Given the description of an element on the screen output the (x, y) to click on. 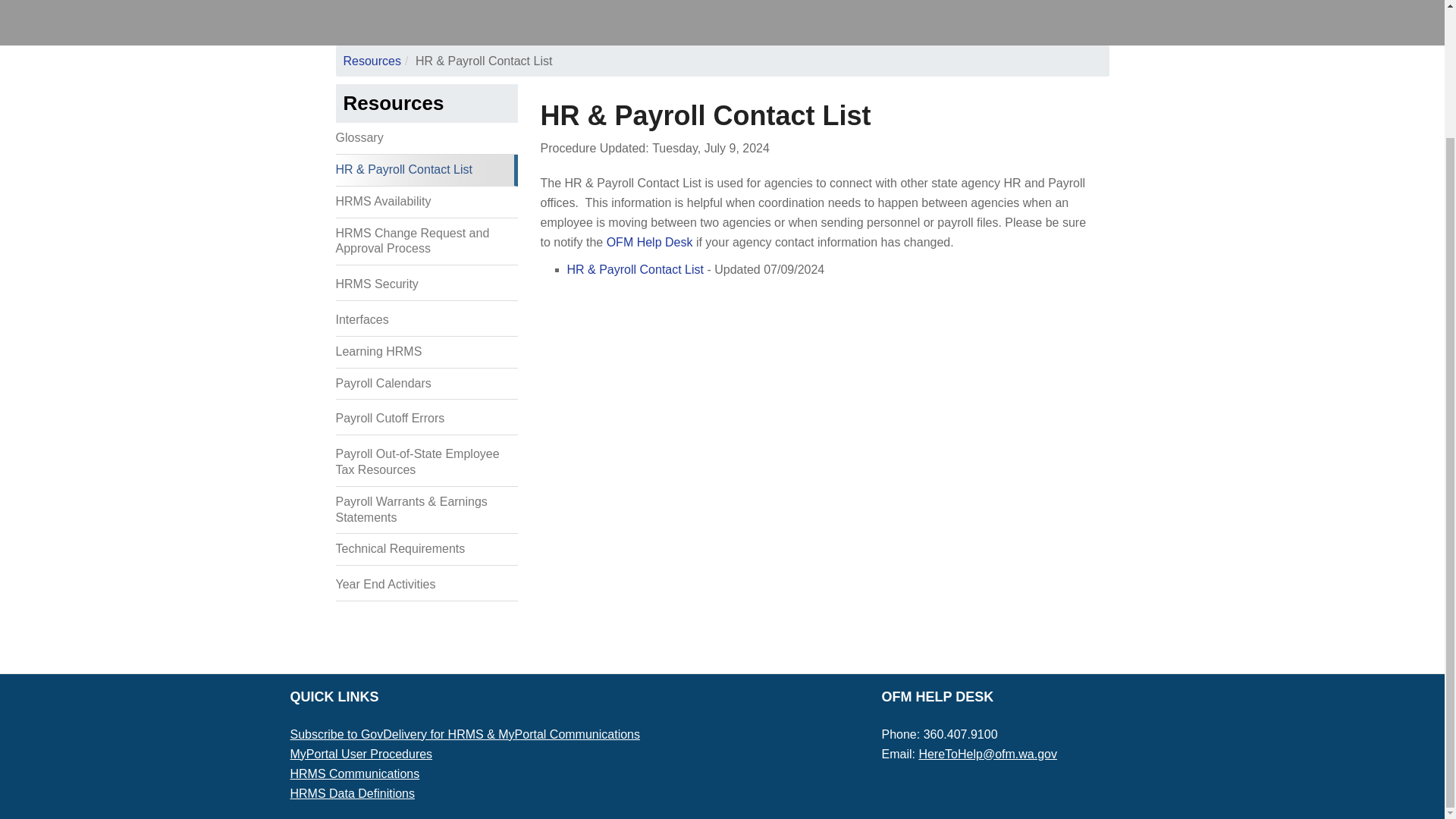
HRMS Security (425, 285)
Glossary (425, 138)
Payroll Calendars (425, 384)
Payroll Cutoff Errors (425, 418)
Resources (371, 60)
HRMS Change Request and Approval Process (425, 242)
Learning HRMS (425, 352)
Payroll Out-of-State Employee Tax Resources (425, 462)
Resources (393, 102)
HRMS Availability (425, 202)
